Given the description of an element on the screen output the (x, y) to click on. 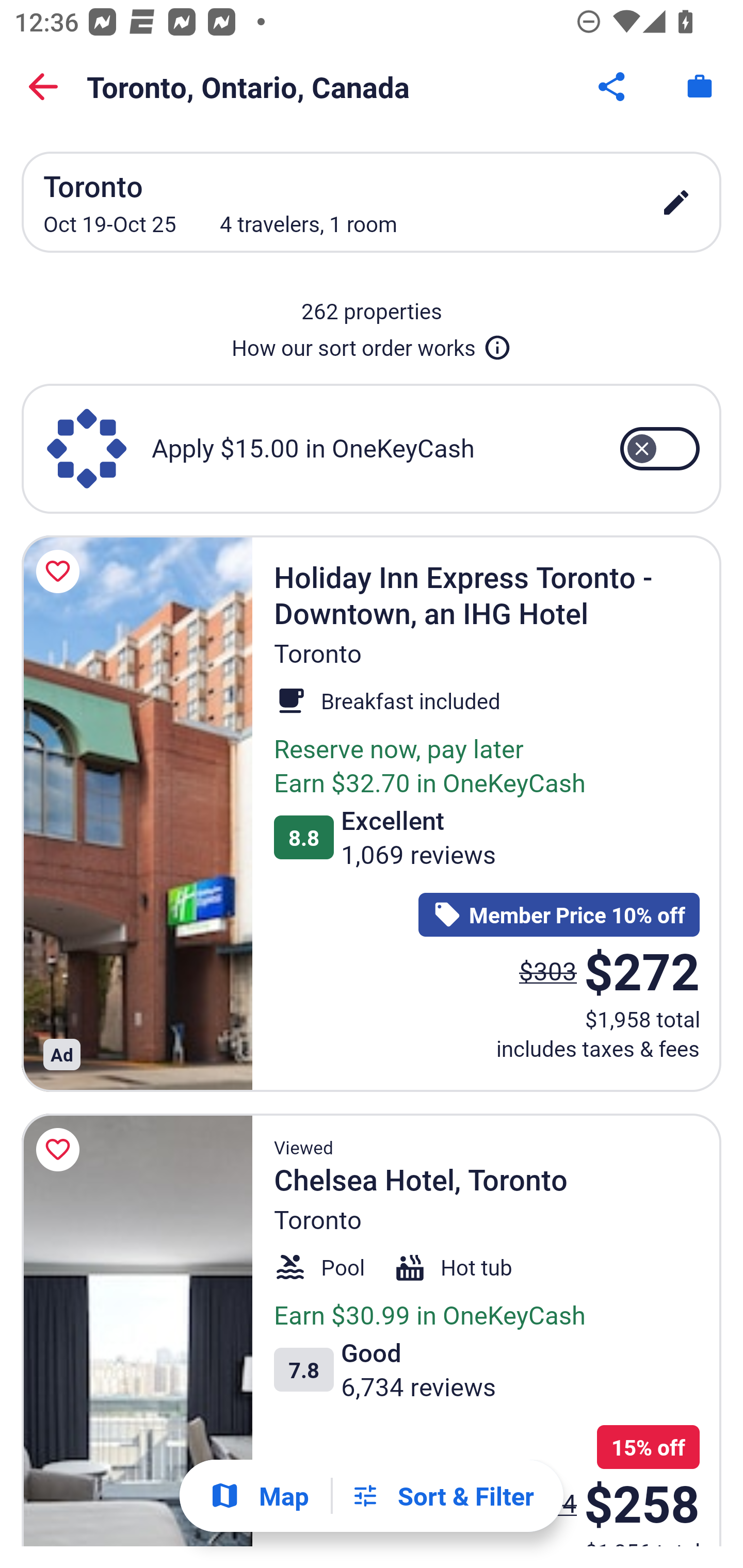
Back (43, 86)
Share Button (612, 86)
Trips. Button (699, 86)
Toronto Oct 19-Oct 25 4 travelers, 1 room edit (371, 202)
How our sort order works (371, 344)
$303 The price was $303 (547, 970)
Save Chelsea Hotel, Toronto to a trip (61, 1150)
Chelsea Hotel, Toronto (136, 1329)
Filters Sort & Filter Filters Button (442, 1495)
Show map Map Show map Button (258, 1495)
